Given the description of an element on the screen output the (x, y) to click on. 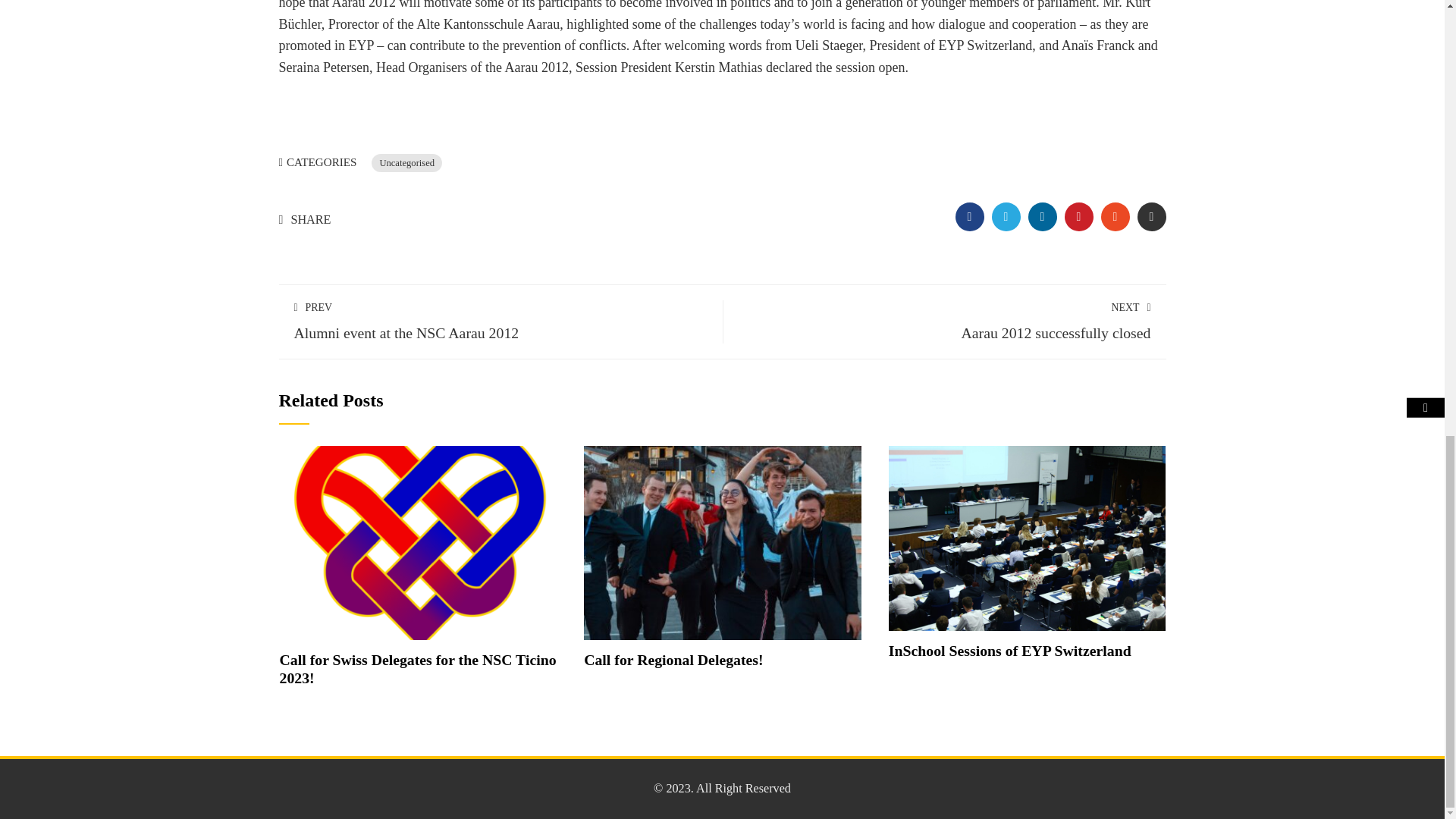
InSchool Sessions of EYP Switzerland (1009, 650)
Call for Regional Delegates! (672, 659)
Call for Regional Delegates! (722, 540)
InSchool Sessions of EYP Switzerland (1027, 536)
Call for Swiss Delegates for the NSC Ticino 2023! (417, 668)
Call for Swiss Delegates for the NSC Ticino 2023! (418, 540)
